Given the description of an element on the screen output the (x, y) to click on. 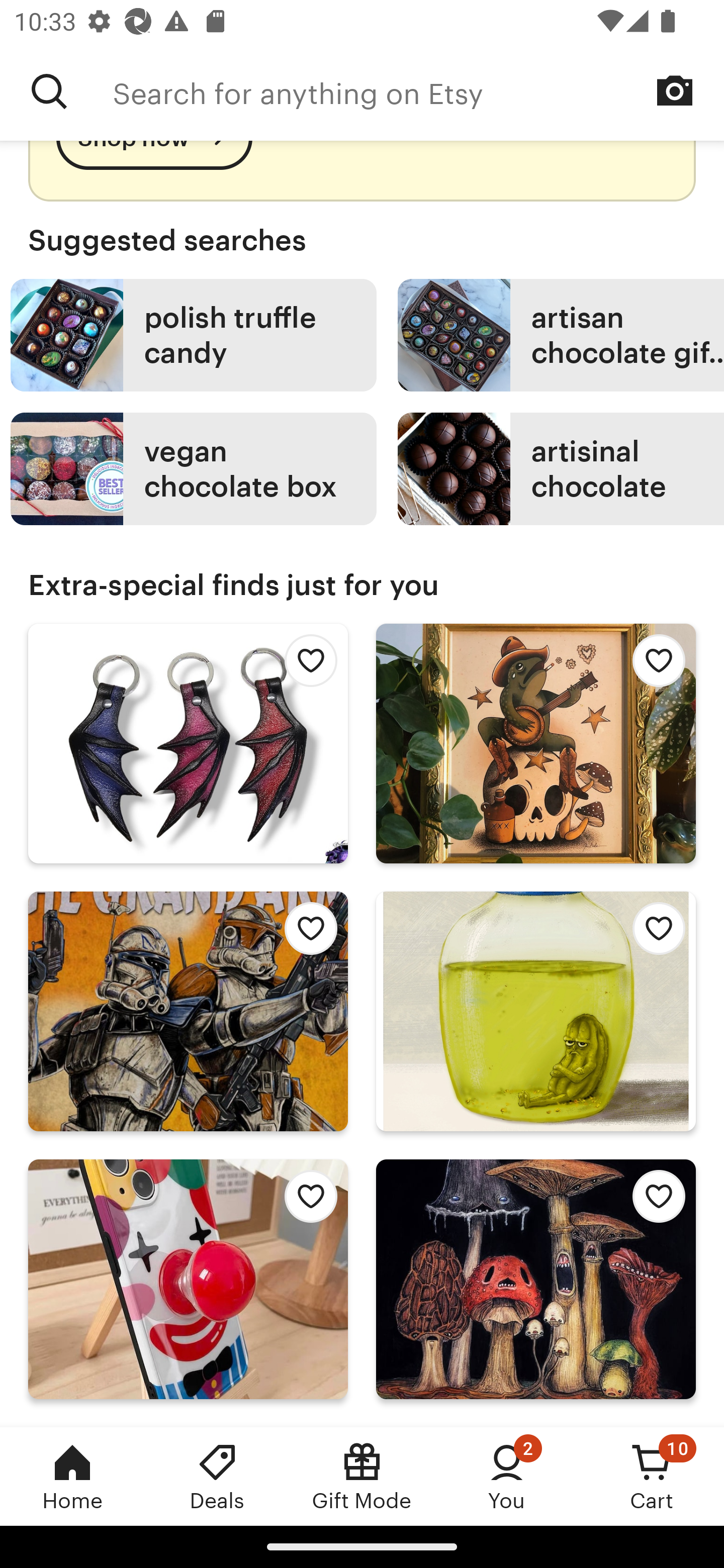
Search for anything on Etsy (49, 91)
Search by image (674, 90)
Search for anything on Etsy (418, 91)
Suggested searches (362, 240)
polish truffle candy (193, 335)
artisan chocolate gift set (560, 335)
vegan chocolate box (193, 468)
artisinal chocolate (560, 468)
Add Lonely Cowboy Print to favorites (653, 666)
Deals (216, 1475)
Gift Mode (361, 1475)
You, 2 new notifications You (506, 1475)
Cart, 10 new notifications Cart (651, 1475)
